Given the description of an element on the screen output the (x, y) to click on. 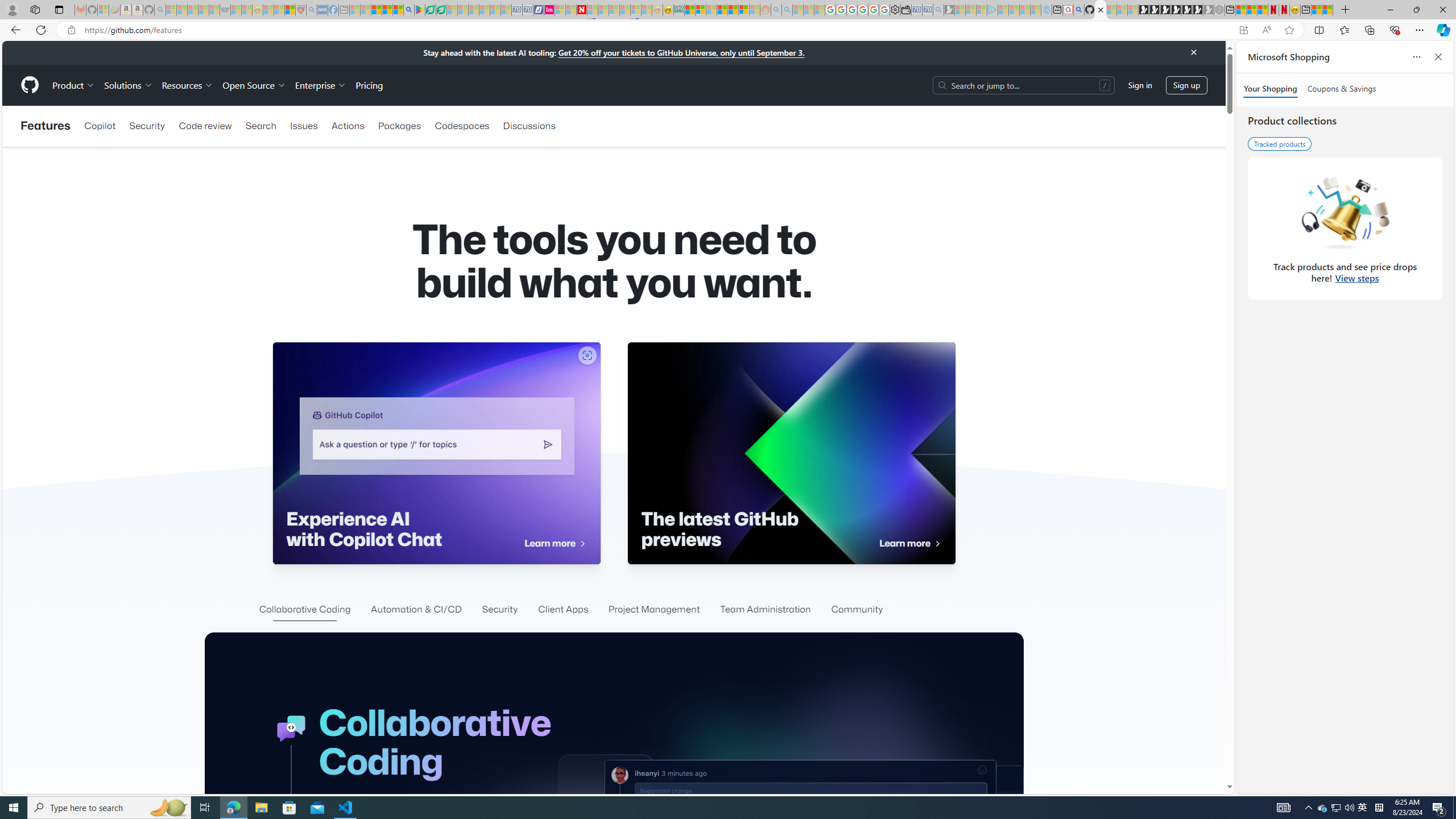
Community (857, 609)
Security (499, 609)
Open Source (254, 84)
